Given the description of an element on the screen output the (x, y) to click on. 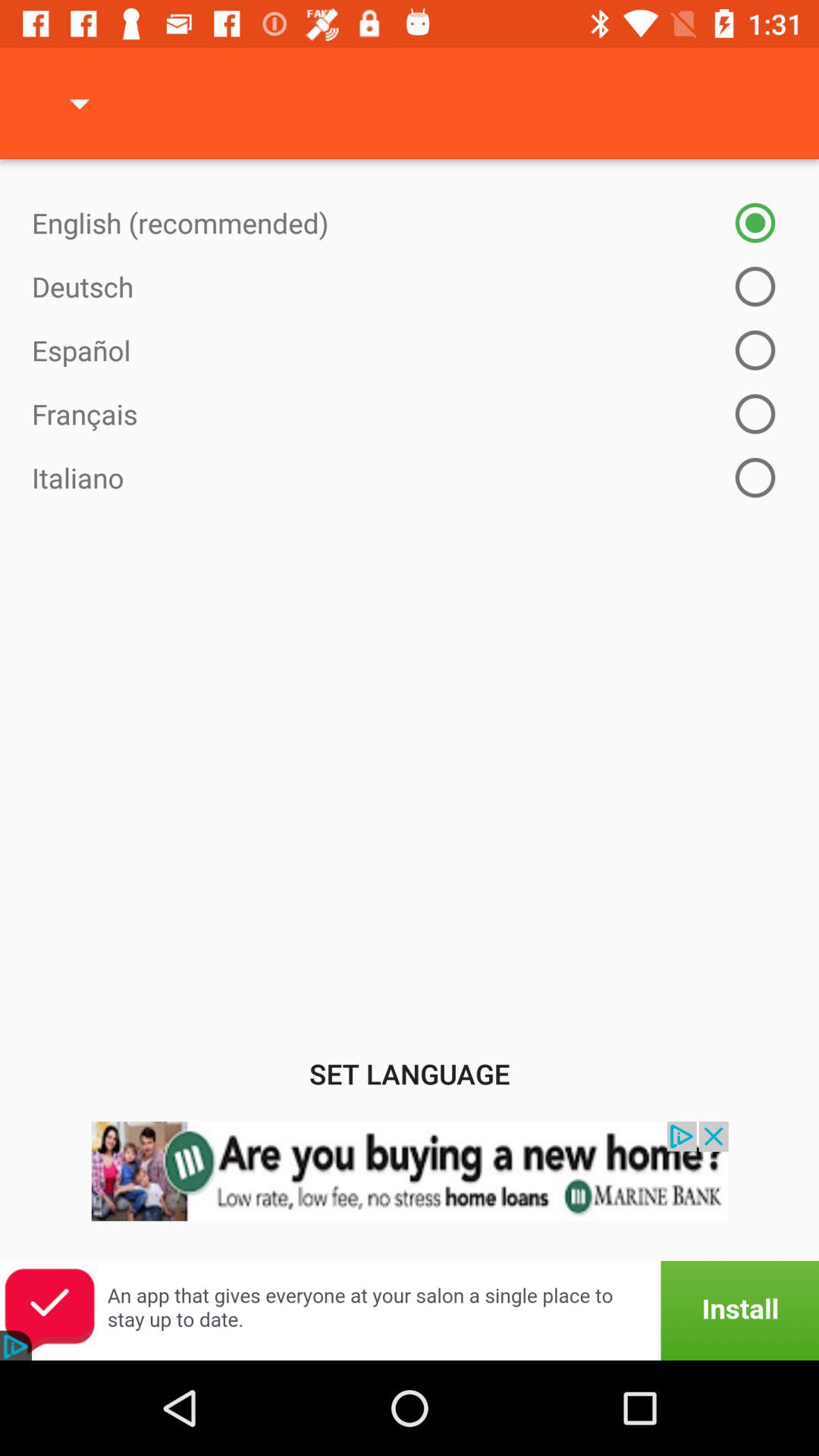
advert banner (409, 1310)
